Given the description of an element on the screen output the (x, y) to click on. 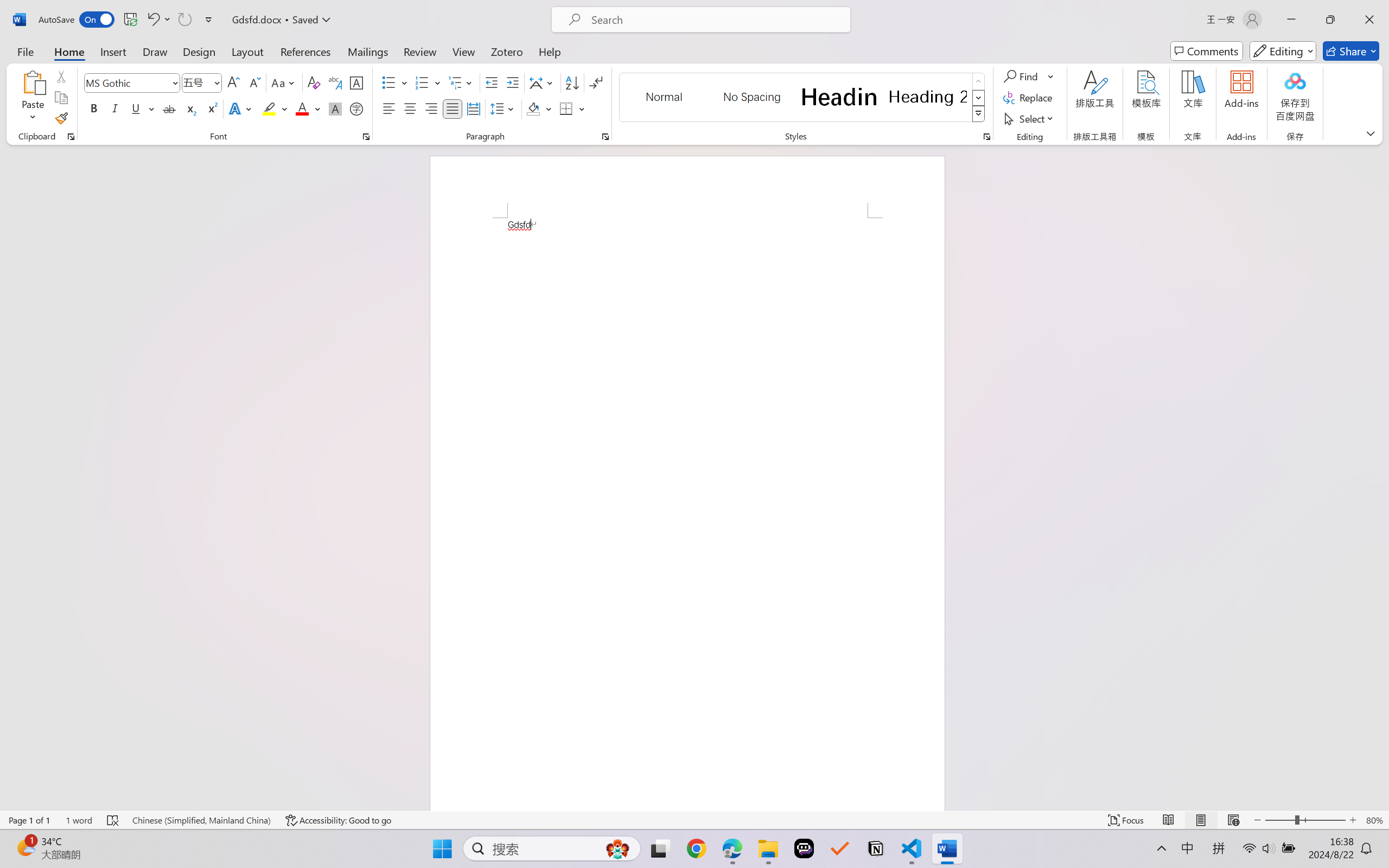
AutomationID: QuickStylesGallery (802, 97)
Undo Font Formatting (152, 19)
